Given the description of an element on the screen output the (x, y) to click on. 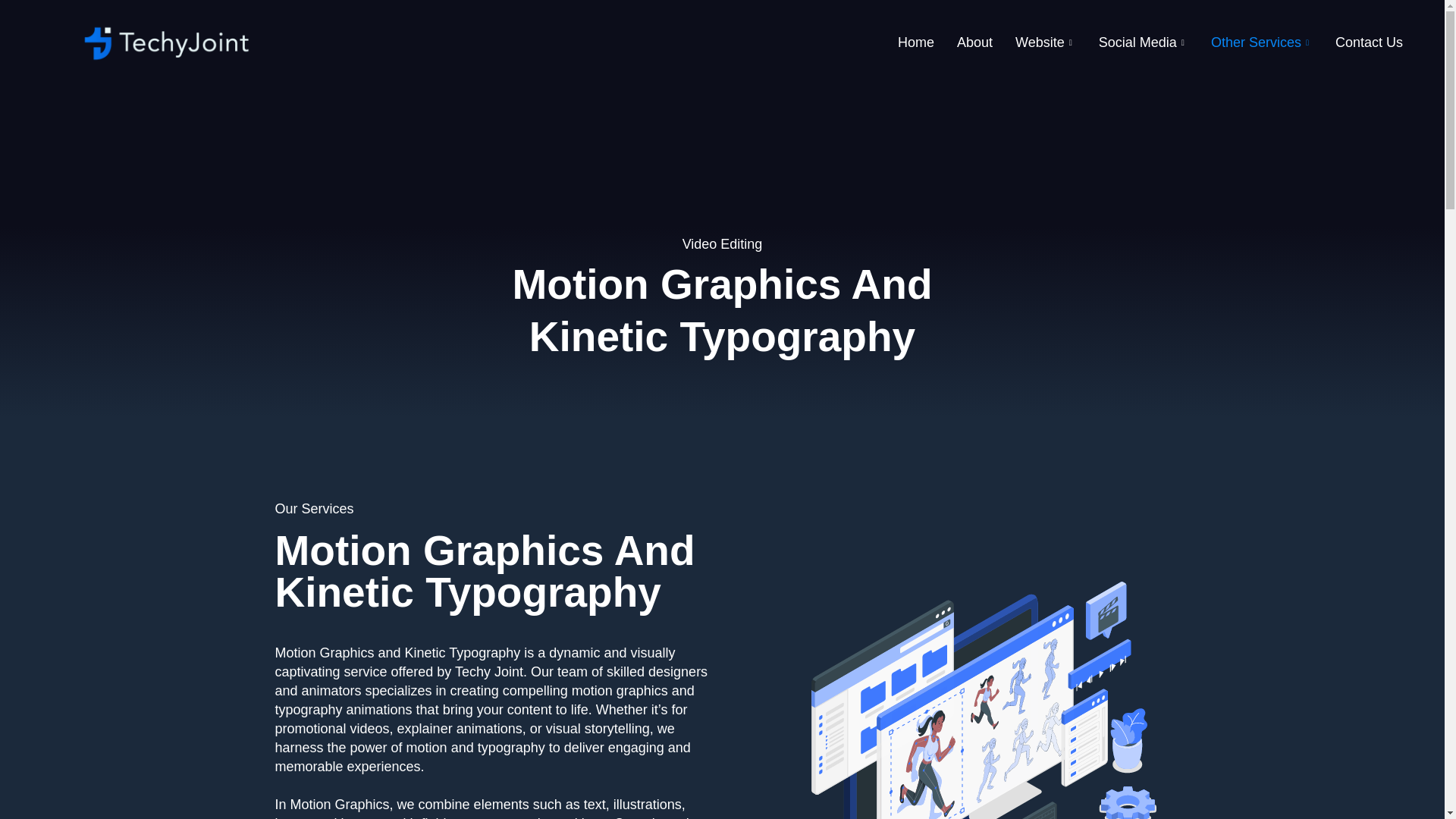
Social Media (1143, 42)
Home (915, 42)
Contact Us (1368, 42)
Other Services (1261, 42)
Website (1045, 42)
About (974, 42)
